Given the description of an element on the screen output the (x, y) to click on. 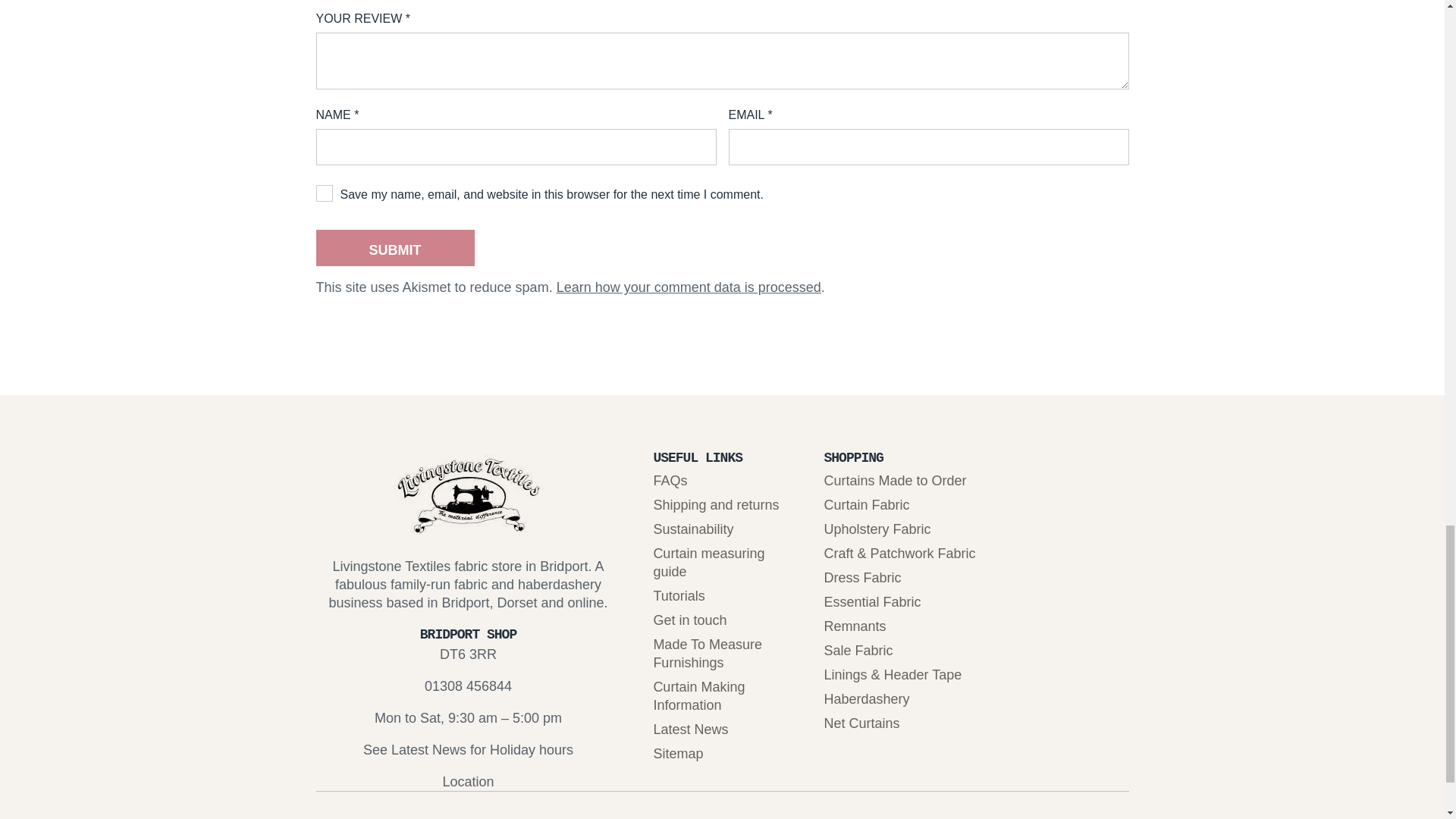
Logo-footer (468, 490)
Submit (394, 248)
